Given the description of an element on the screen output the (x, y) to click on. 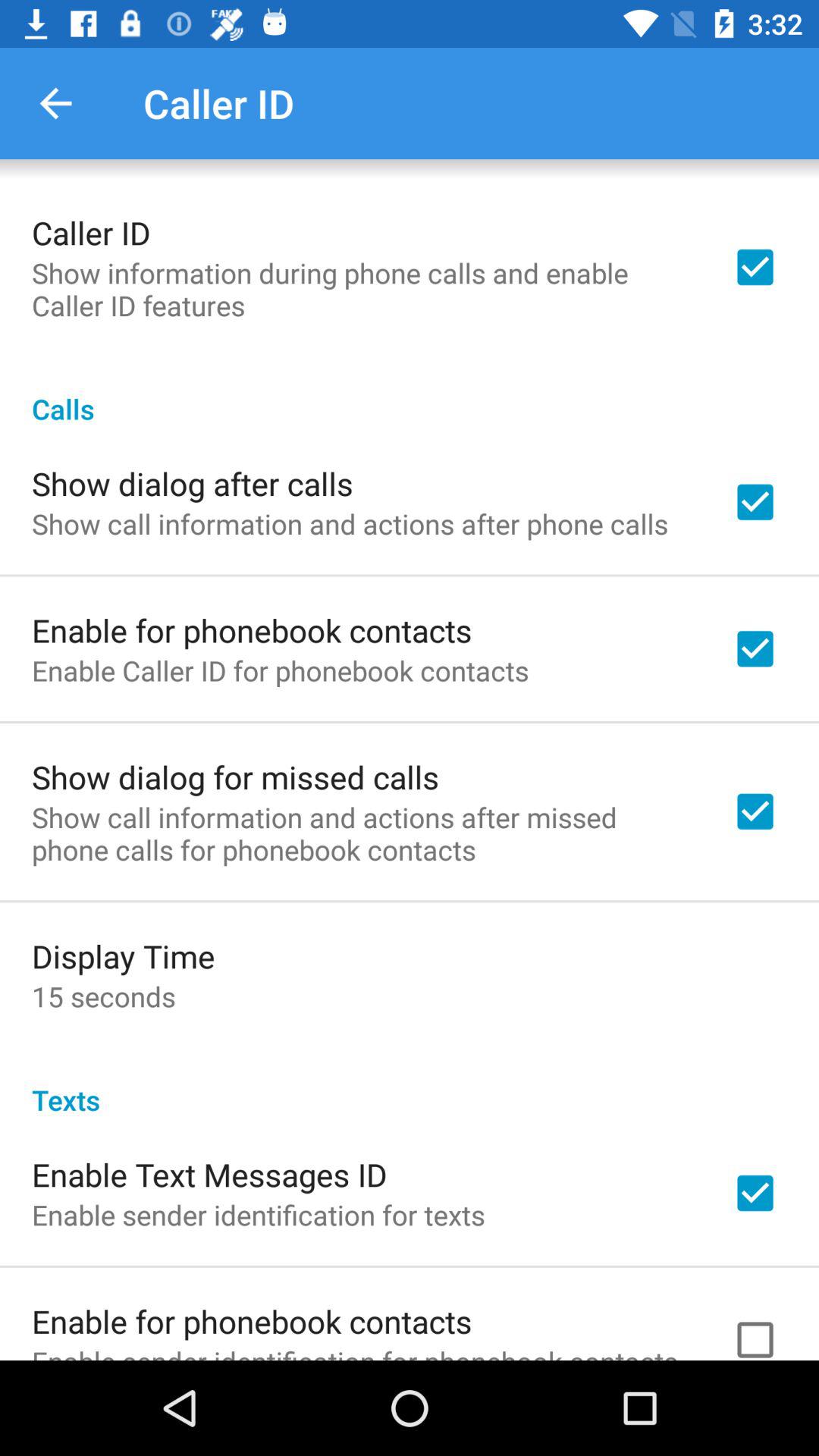
turn off the display time (122, 955)
